Given the description of an element on the screen output the (x, y) to click on. 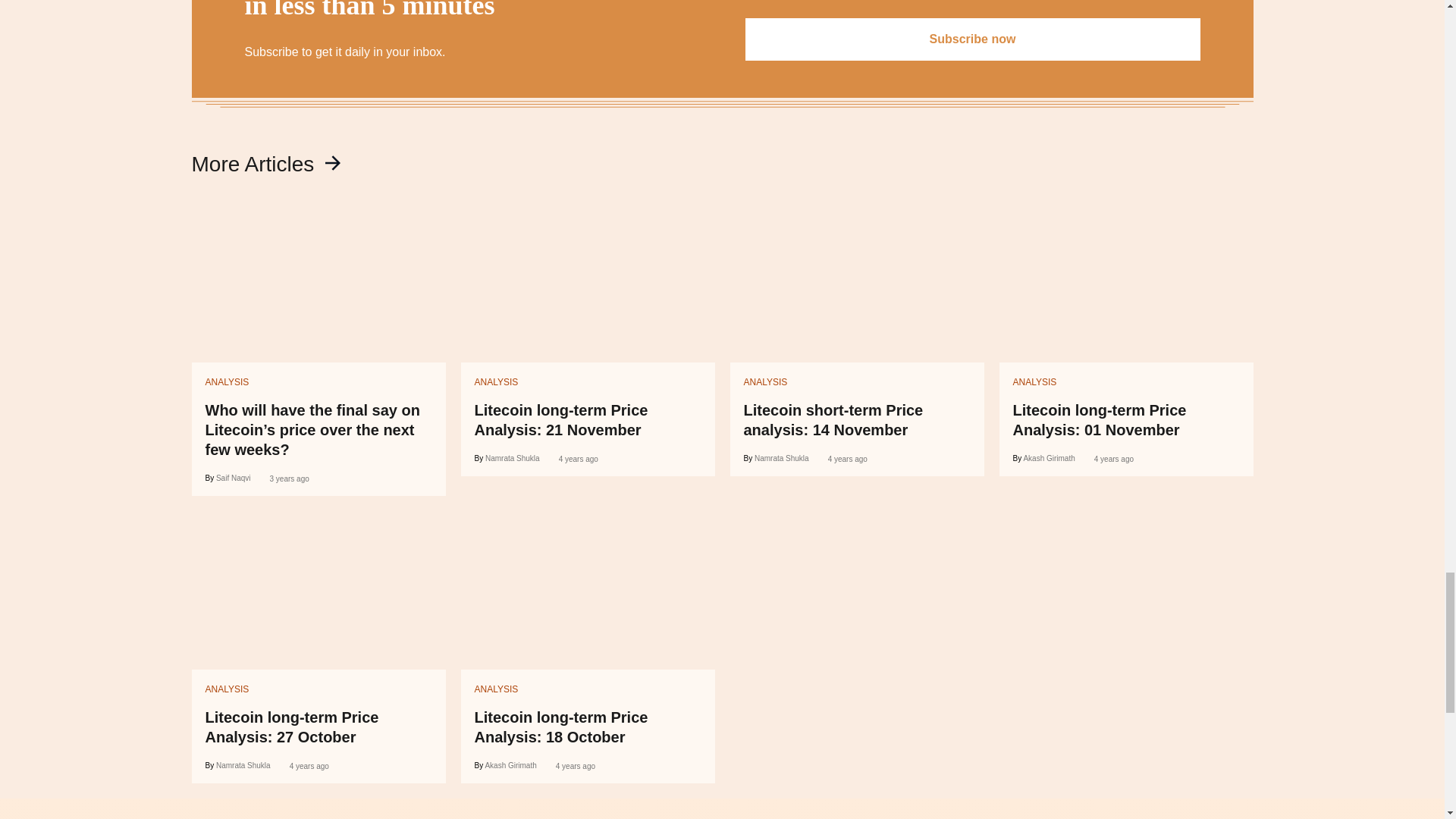
Subscribe now (971, 39)
